Given the description of an element on the screen output the (x, y) to click on. 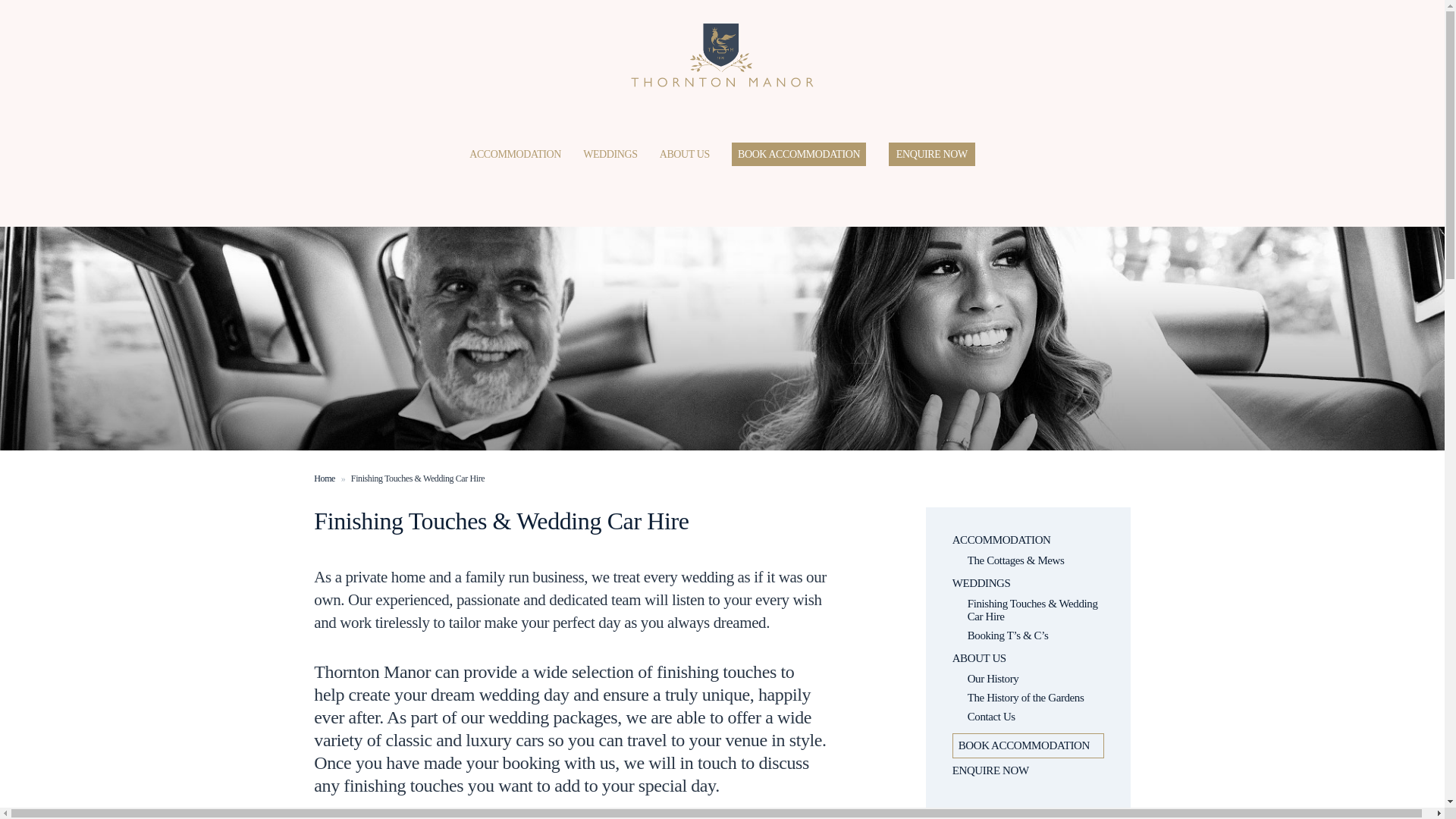
BOOK ACCOMMODATION (1027, 745)
ABOUT US (1027, 658)
ABOUT US (684, 153)
BOOK ACCOMMODATION (799, 153)
ENQUIRE NOW (932, 153)
ACCOMMODATION (514, 153)
ENQUIRE NOW (1027, 770)
Our History (1035, 678)
WEDDINGS (1027, 583)
Contact Us (1035, 716)
